Given the description of an element on the screen output the (x, y) to click on. 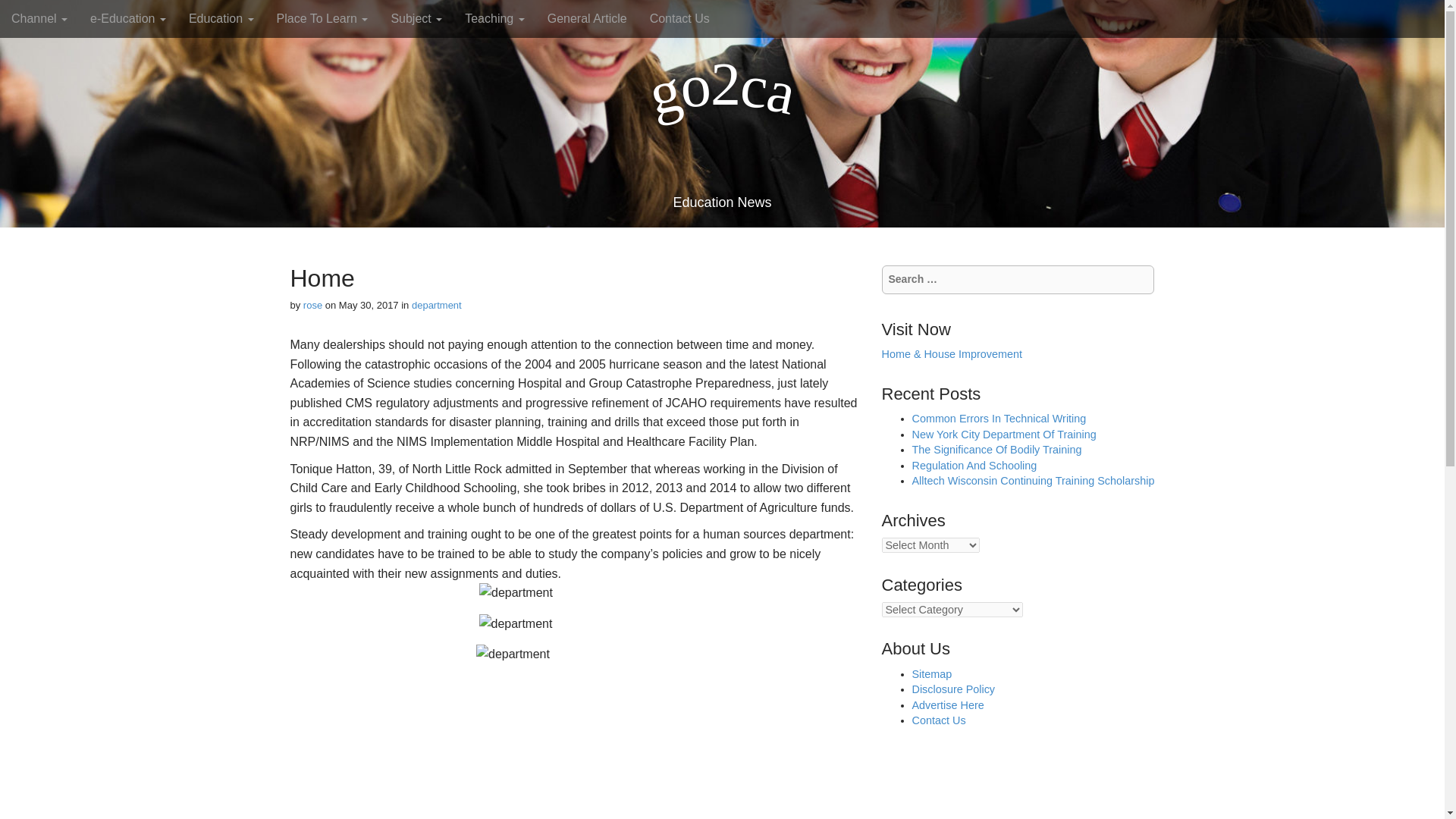
Channel (39, 18)
Common Errors In Technical Writing (998, 418)
e-Education (127, 18)
May 30, 2017 (368, 305)
Education (220, 18)
General Article (587, 18)
department (436, 305)
rose (311, 305)
Subject (415, 18)
Teaching (493, 18)
